Given the description of an element on the screen output the (x, y) to click on. 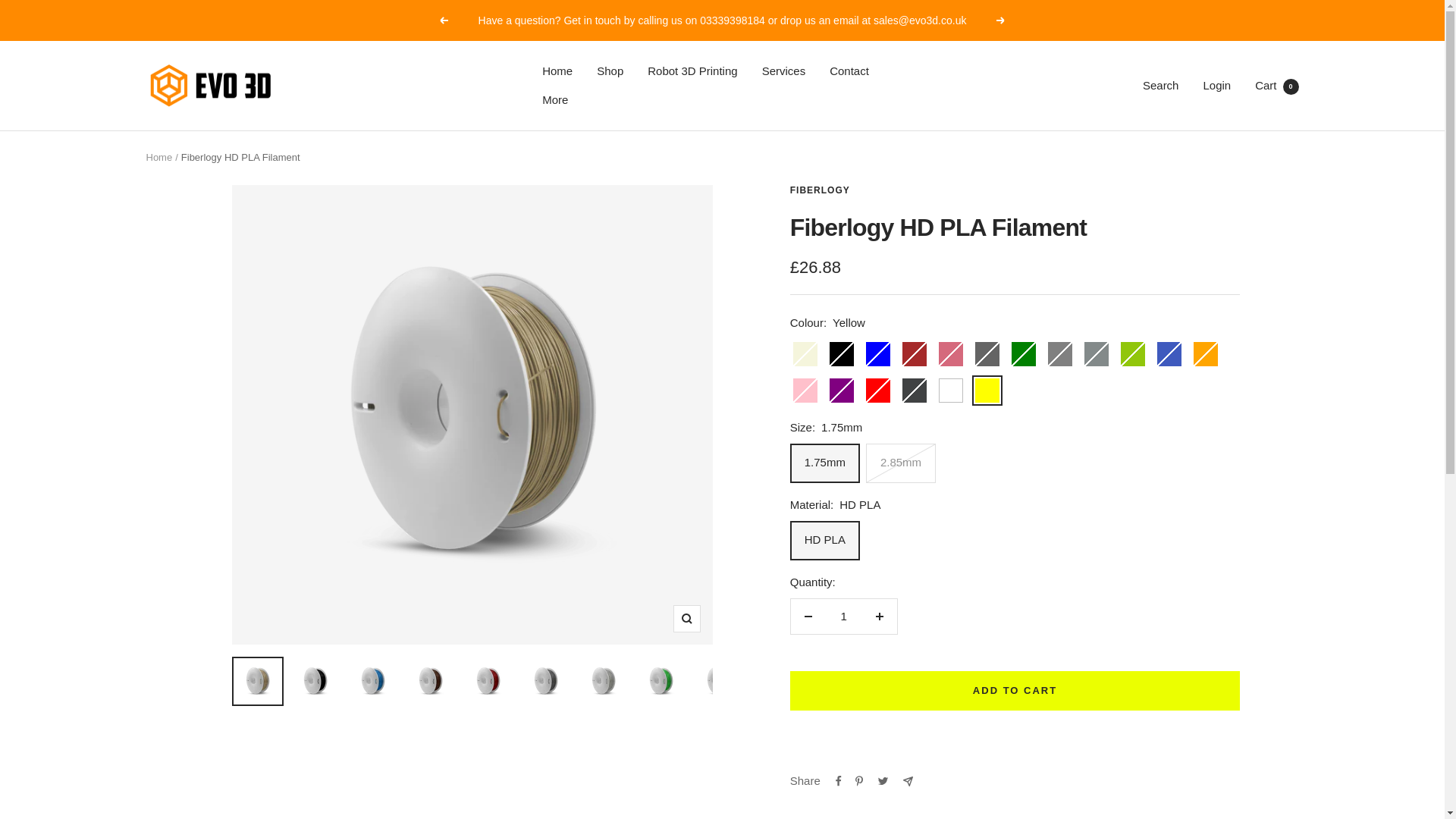
Home (158, 156)
Contact (849, 71)
Search (1160, 84)
Home (556, 71)
More (554, 99)
Login (1216, 84)
Next (1000, 20)
Robot 3D Printing (691, 71)
